Given the description of an element on the screen output the (x, y) to click on. 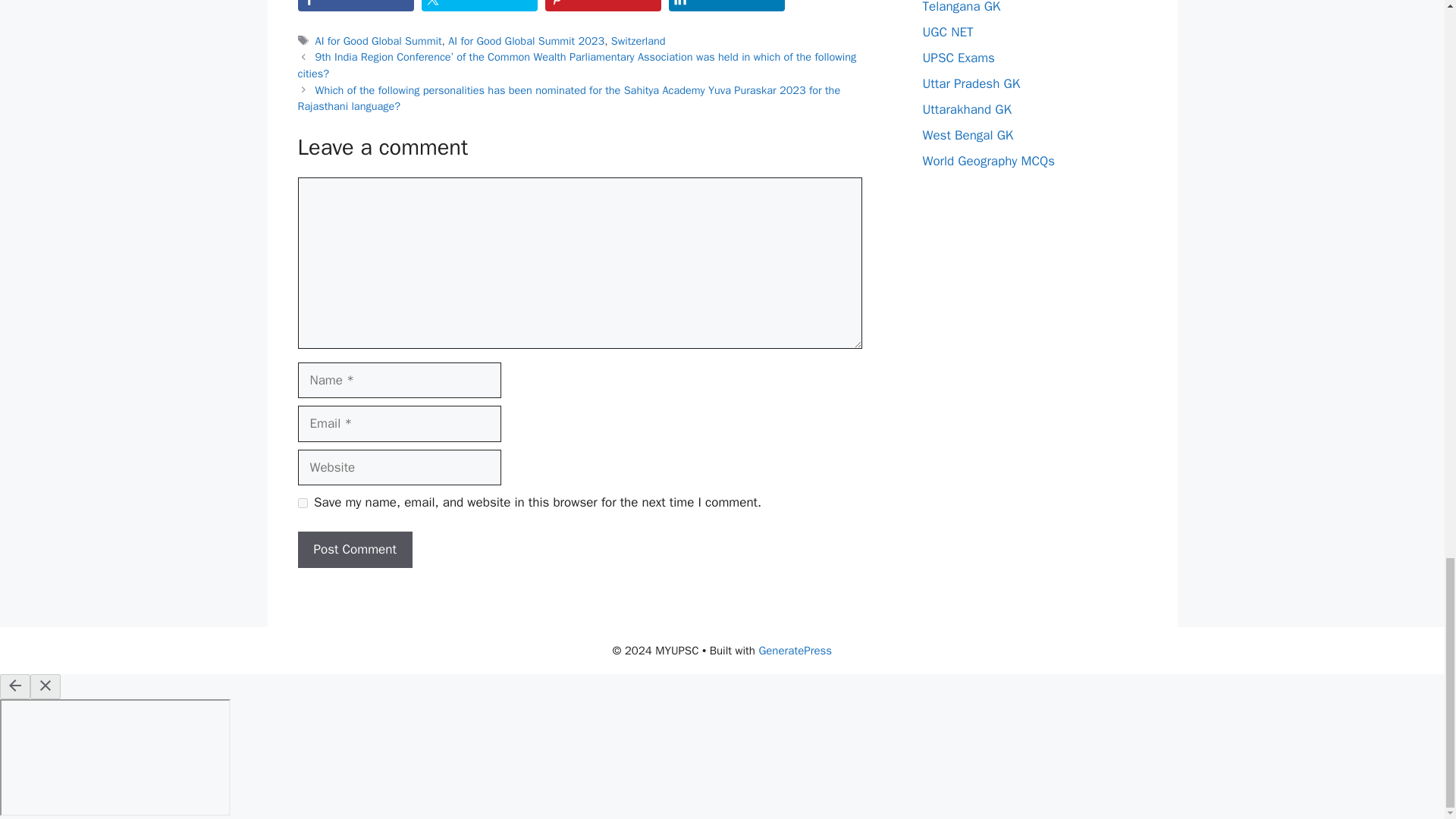
Share on Twitter (479, 5)
Share on Pinterest (602, 5)
Post Comment (354, 549)
Share on LinkedIn (726, 5)
Share on Facebook (355, 5)
yes (302, 502)
